Given the description of an element on the screen output the (x, y) to click on. 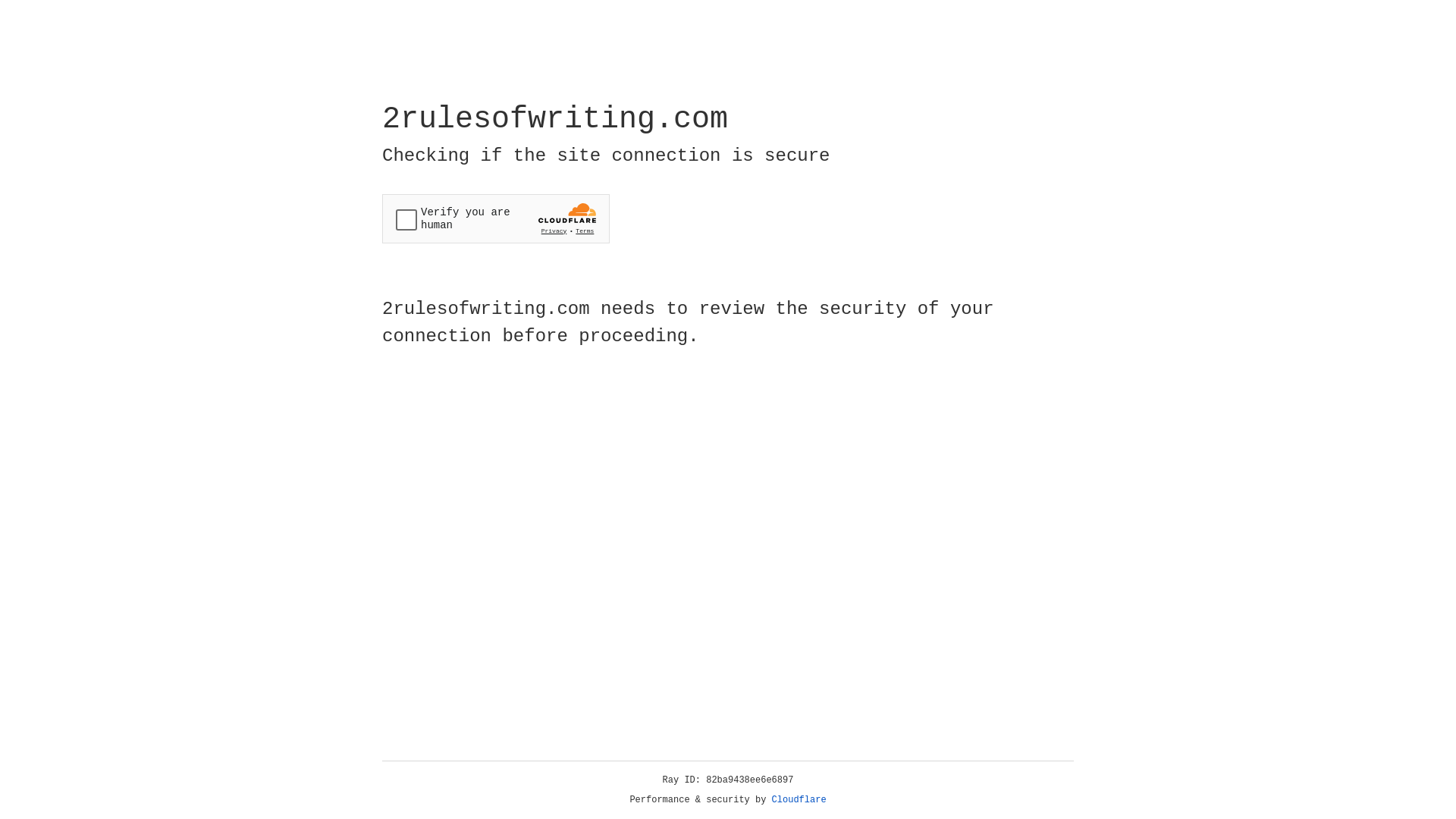
Widget containing a Cloudflare security challenge Element type: hover (495, 218)
Cloudflare Element type: text (798, 799)
